Given the description of an element on the screen output the (x, y) to click on. 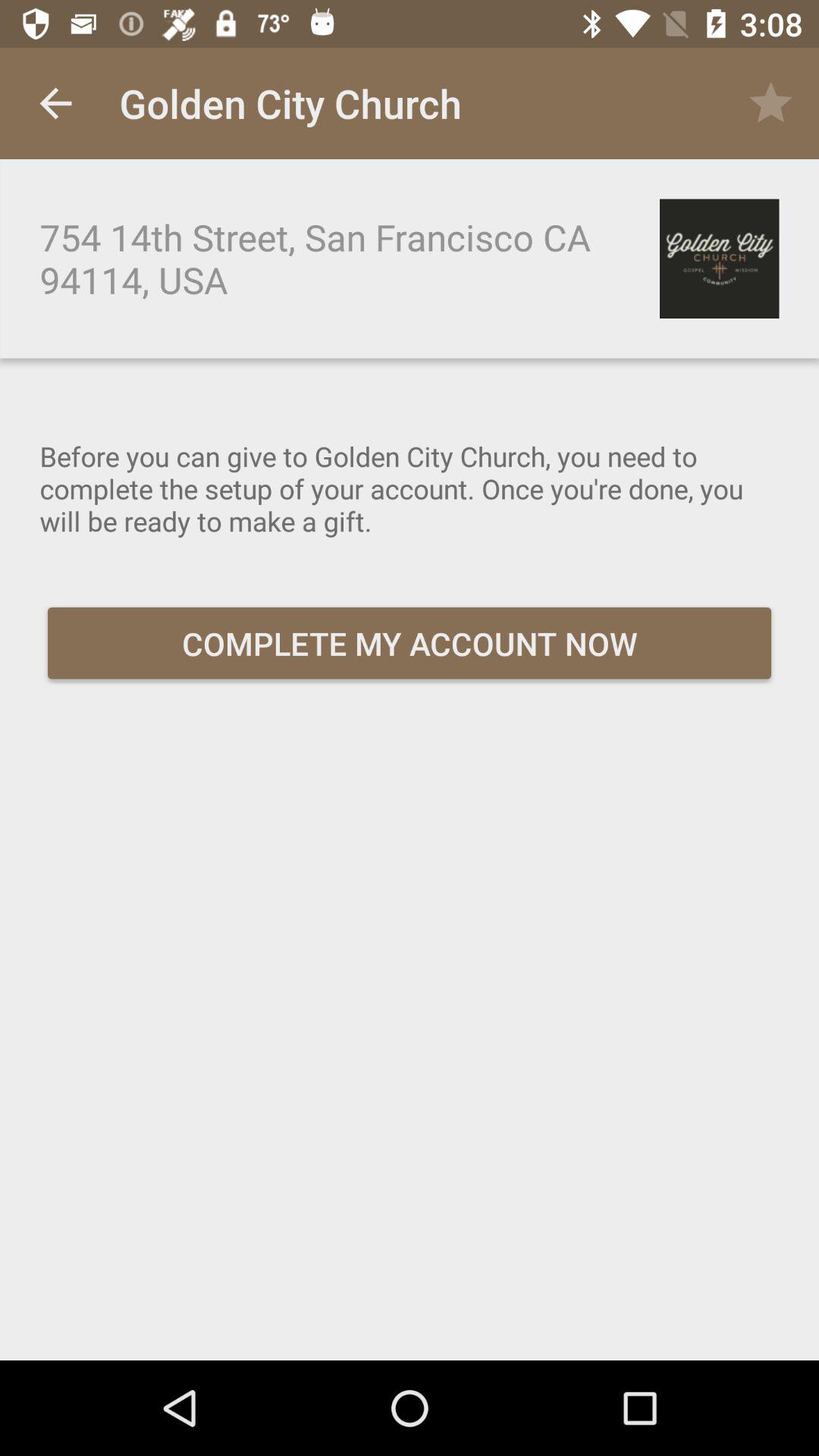
click icon above the 754 14th street icon (55, 103)
